Given the description of an element on the screen output the (x, y) to click on. 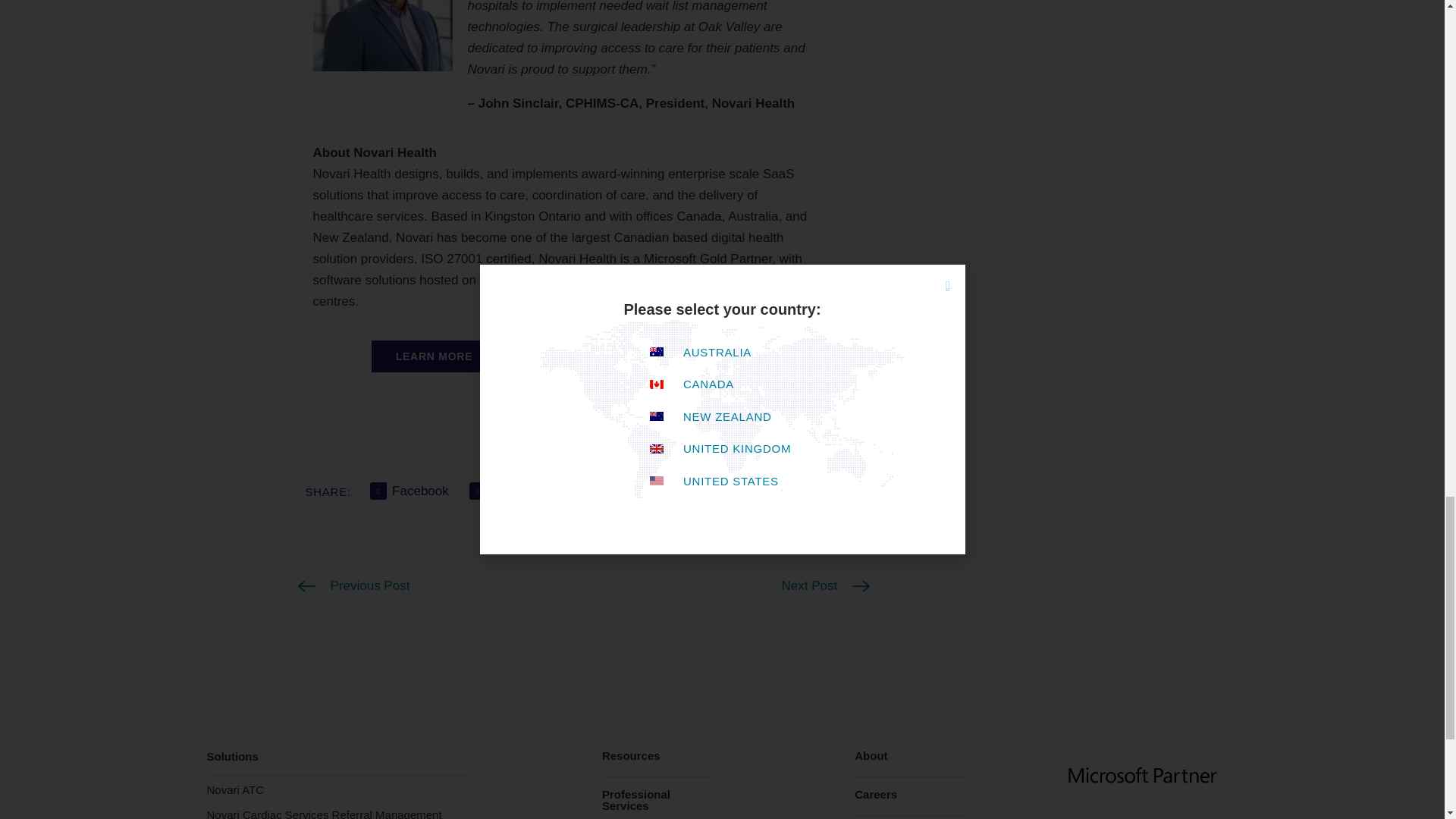
LEARN MORE (434, 356)
CONTACT US (691, 356)
Next Post (824, 585)
Previous Post (353, 585)
